Given the description of an element on the screen output the (x, y) to click on. 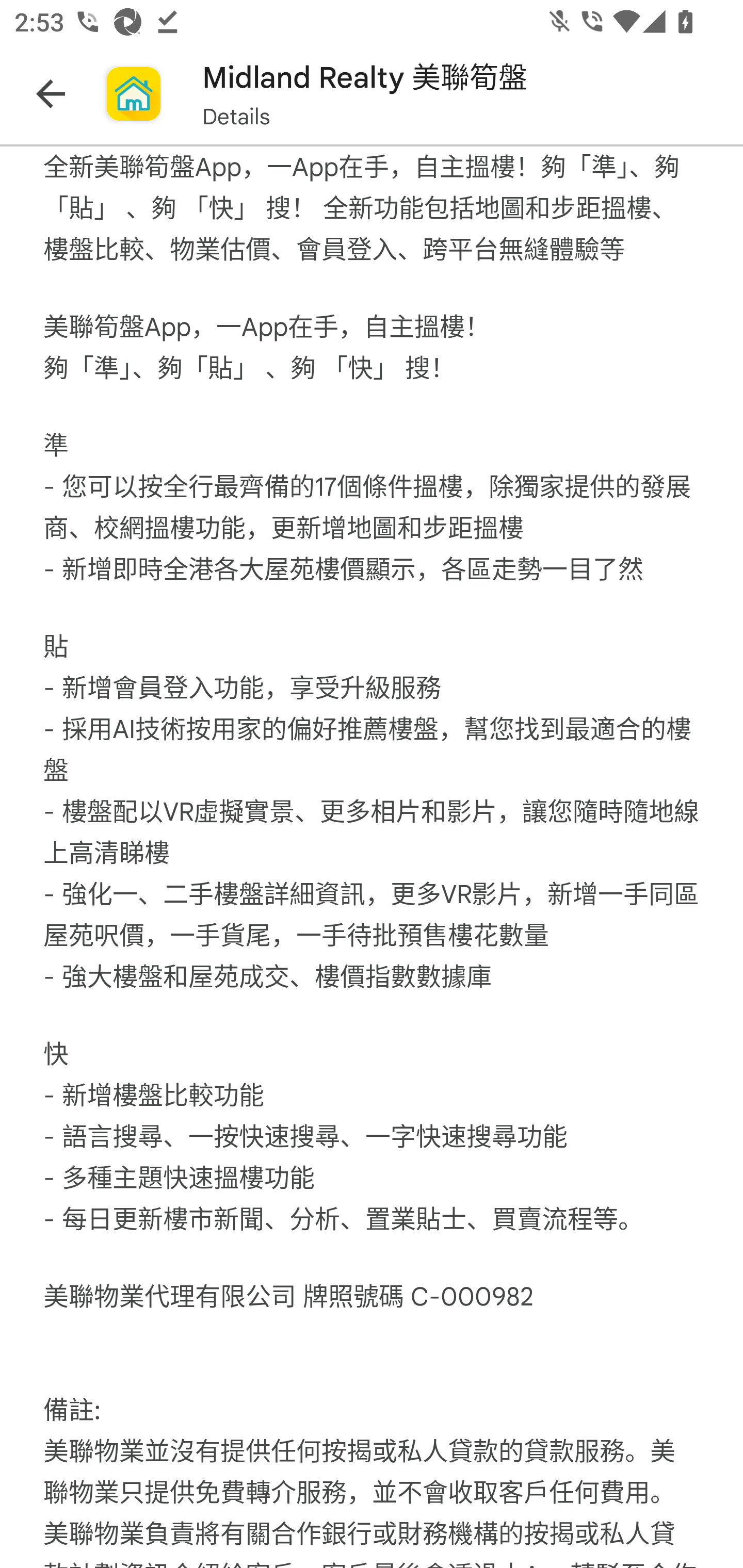
Navigate up (50, 93)
